Given the description of an element on the screen output the (x, y) to click on. 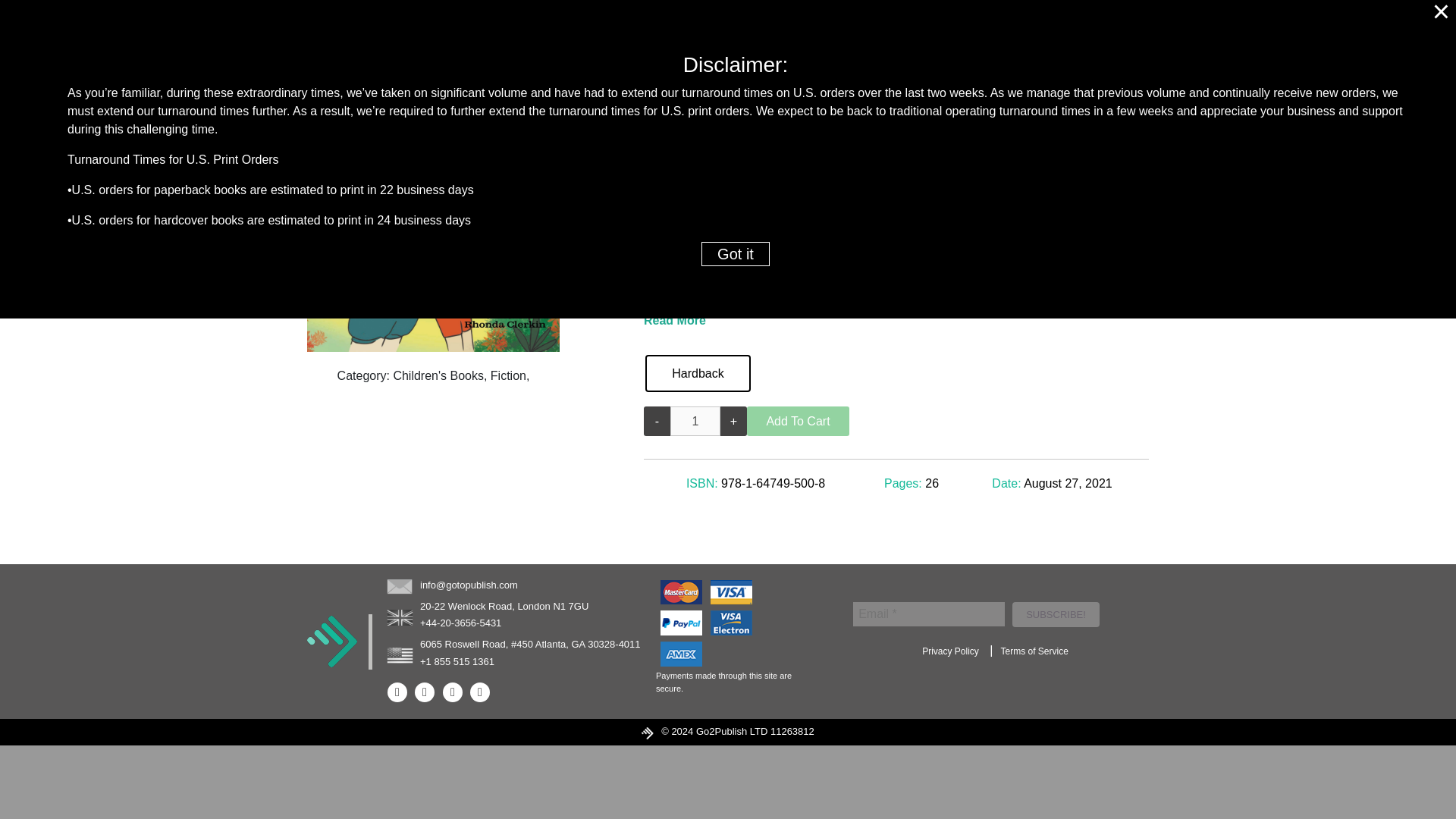
Subscribe! (1055, 614)
Email (928, 613)
Information (908, 20)
Qty (694, 420)
Privacy Policy (950, 651)
- (656, 420)
Blog (830, 20)
Add To Cart (797, 420)
Services (760, 20)
Login (1115, 20)
Home (684, 20)
1 (694, 420)
Got it (735, 253)
About Us (998, 20)
Subscribe! (1055, 614)
